Given the description of an element on the screen output the (x, y) to click on. 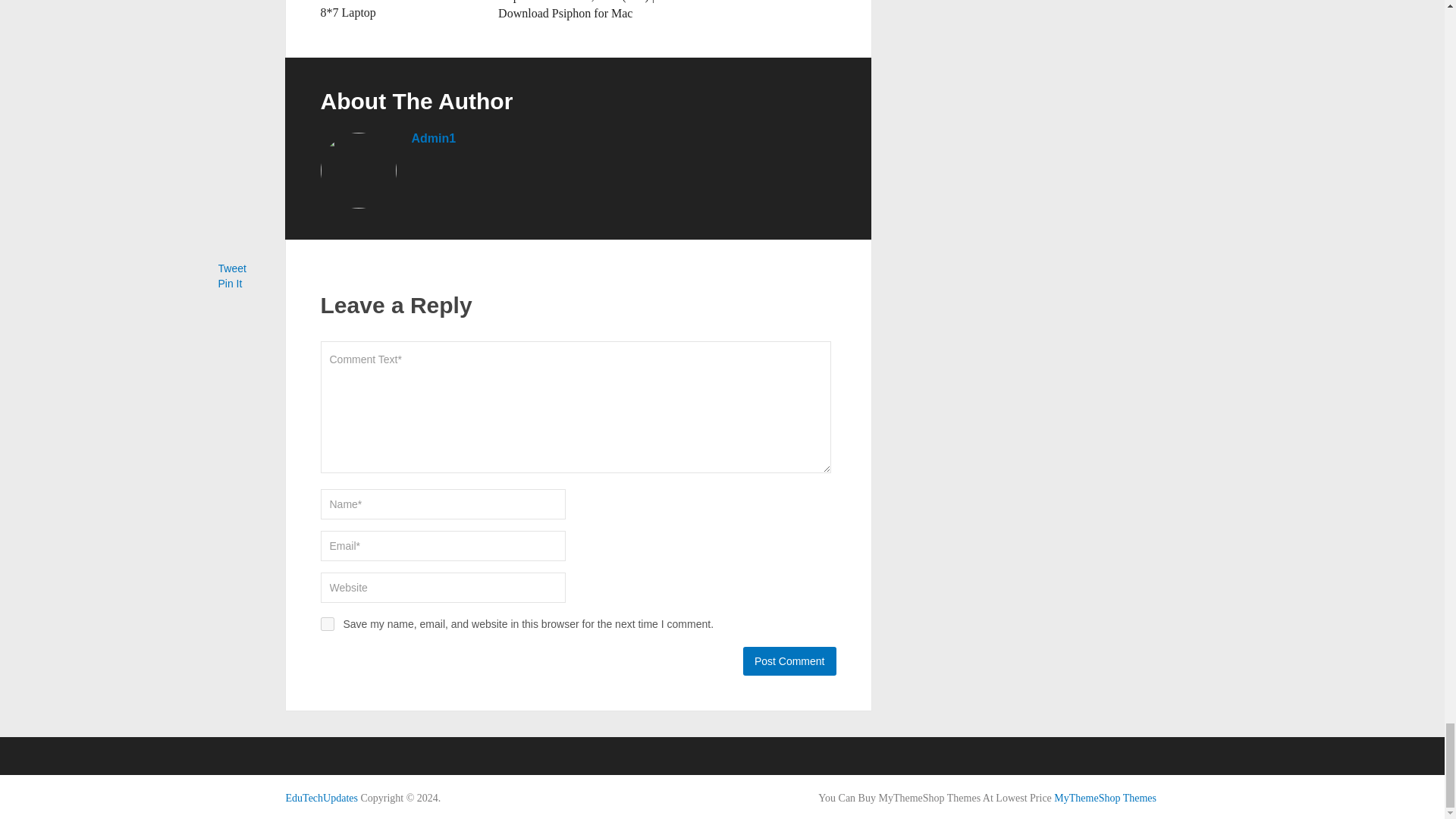
yes (326, 623)
Admin1 (432, 137)
Post Comment (788, 661)
Post Comment (788, 661)
